Given the description of an element on the screen output the (x, y) to click on. 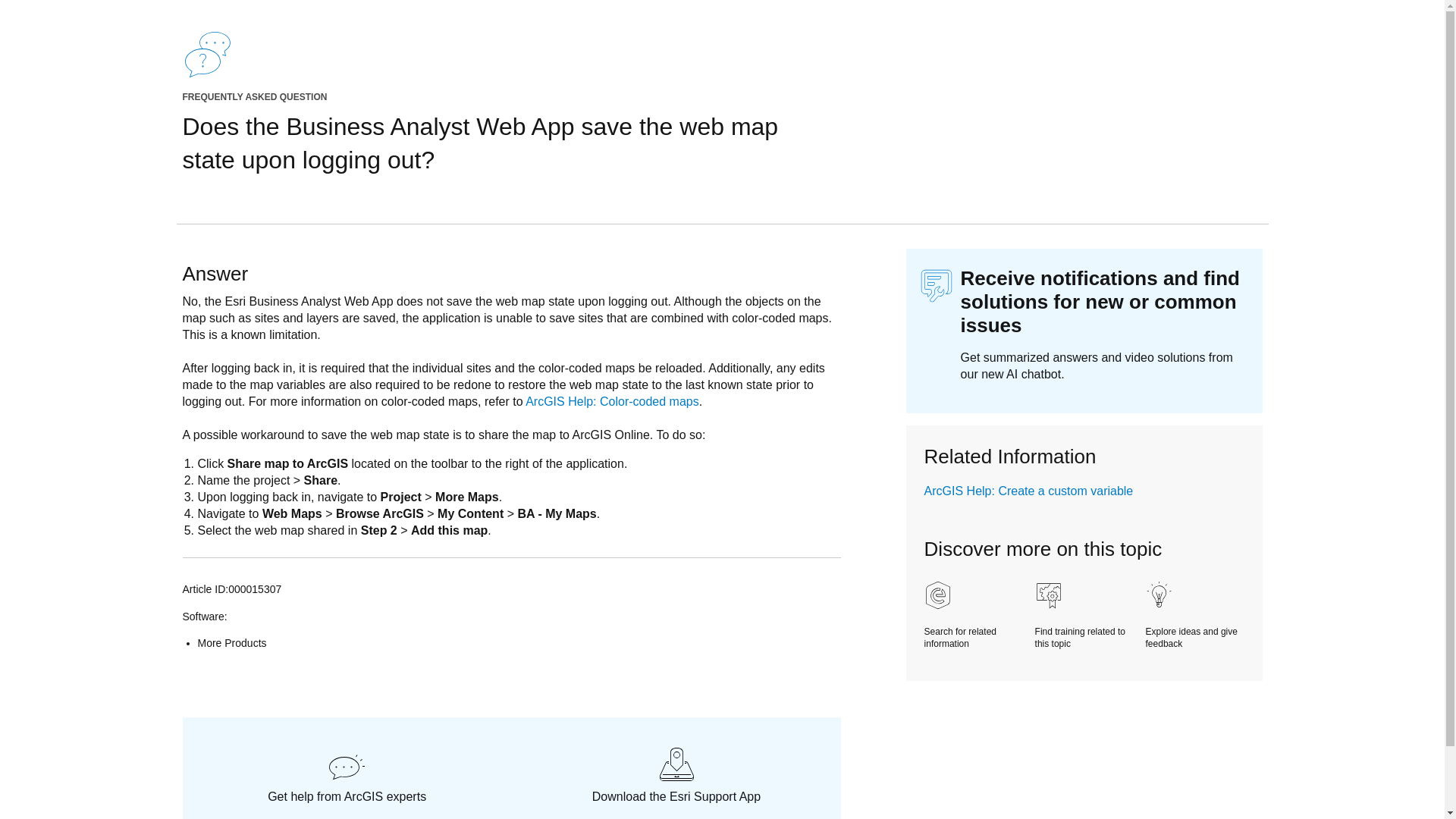
ArcGIS Help: Color-coded maps (611, 400)
ArcGIS Help: Create a custom variable (1029, 490)
